Given the description of an element on the screen output the (x, y) to click on. 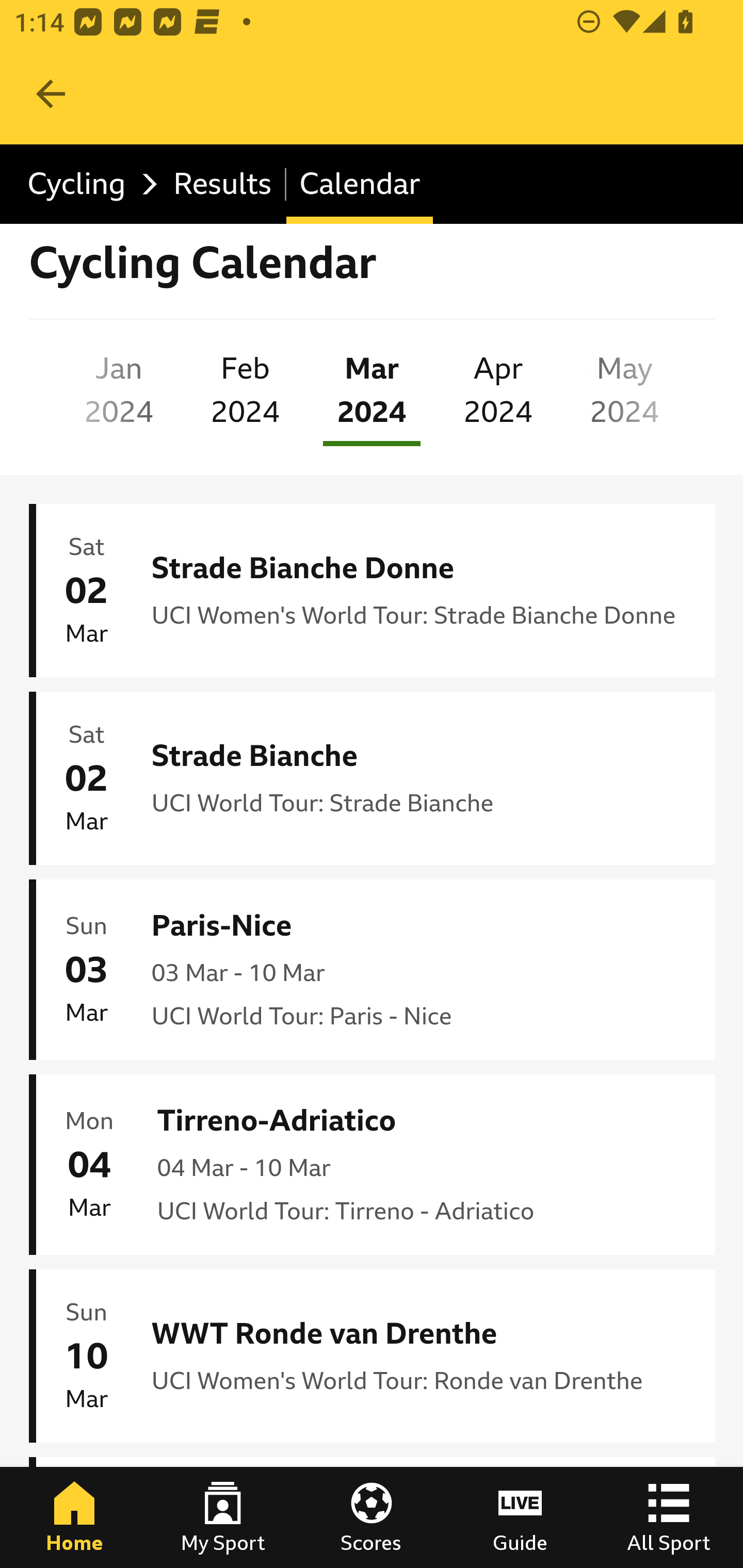
Navigate up (50, 93)
Cycling (87, 184)
Results (222, 184)
Calendar (359, 184)
My Sport (222, 1517)
Scores (371, 1517)
Guide (519, 1517)
All Sport (668, 1517)
